Given the description of an element on the screen output the (x, y) to click on. 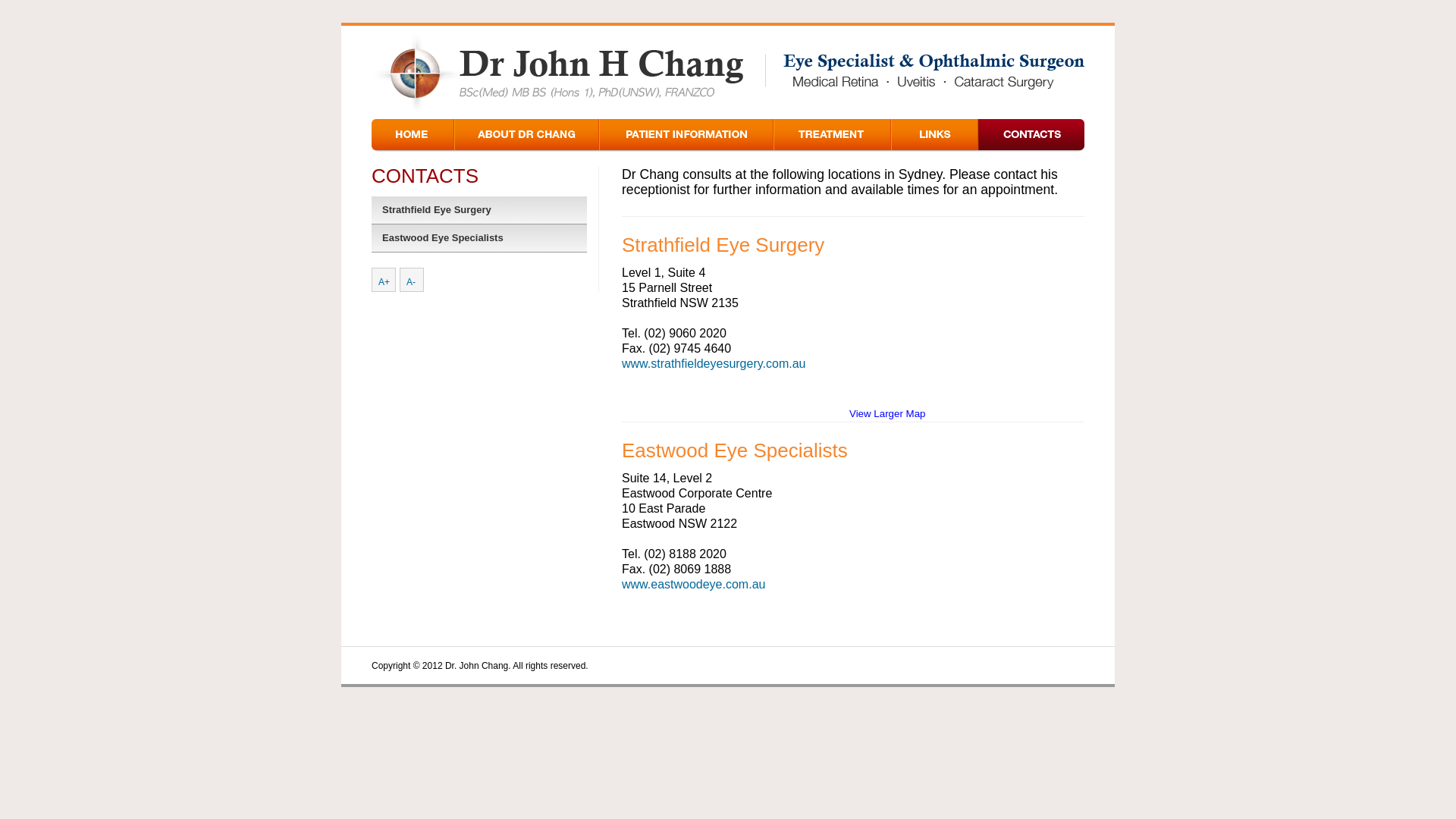
www.strathfieldeyesurgery.com.au Element type: text (713, 363)
Treatment Element type: text (832, 135)
Strathfield Eye Surgery Element type: text (478, 210)
About Dr Chang Element type: text (526, 135)
Home Element type: text (412, 135)
Eastwood Eye Specialists Element type: text (478, 238)
Twitter Element type: text (991, 664)
www.eastwoodeye.com.au Element type: text (693, 583)
A- Element type: text (411, 278)
Contacts Element type: text (1031, 135)
Flickr Element type: text (1070, 664)
Facebook Element type: text (1044, 664)
Youtube Element type: text (1017, 664)
View Larger Map Element type: text (887, 413)
A+ Element type: text (383, 278)
Links Element type: text (934, 135)
Patient Information Element type: text (686, 135)
